Given the description of an element on the screen output the (x, y) to click on. 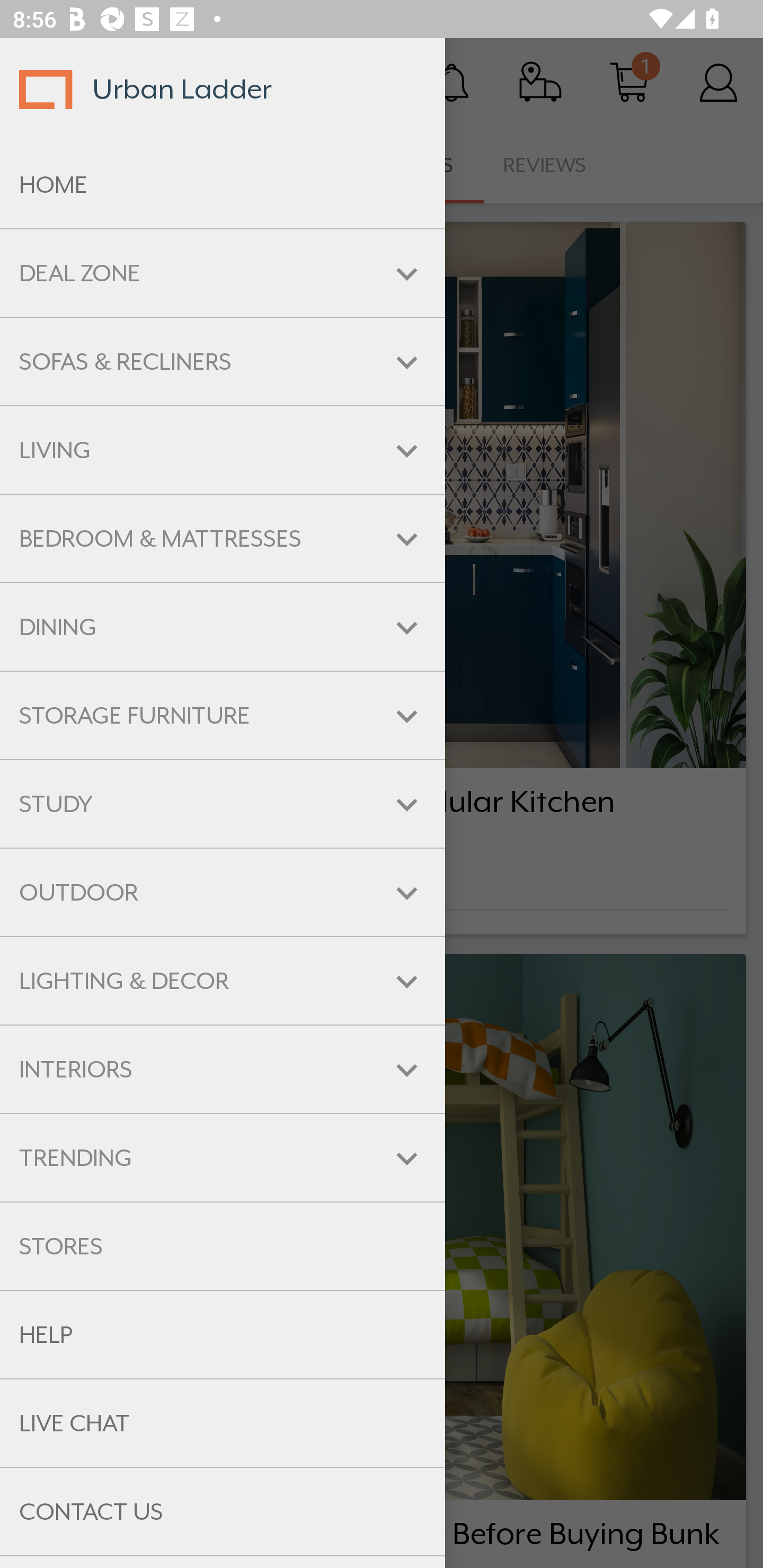
Urban Ladder (222, 89)
HOME (222, 184)
DEAL ZONE  (222, 273)
SOFAS & RECLINERS  (222, 361)
LIVING  (222, 450)
BEDROOM & MATTRESSES  (222, 538)
DINING  (222, 627)
STORAGE FURNITURE  (222, 715)
STUDY  (222, 803)
OUTDOOR  (222, 892)
LIGHTING & DECOR  (222, 980)
INTERIORS  (222, 1069)
TRENDING  (222, 1157)
STORES (222, 1246)
HELP (222, 1334)
LIVE CHAT (222, 1422)
CONTACT US (222, 1512)
